Given the description of an element on the screen output the (x, y) to click on. 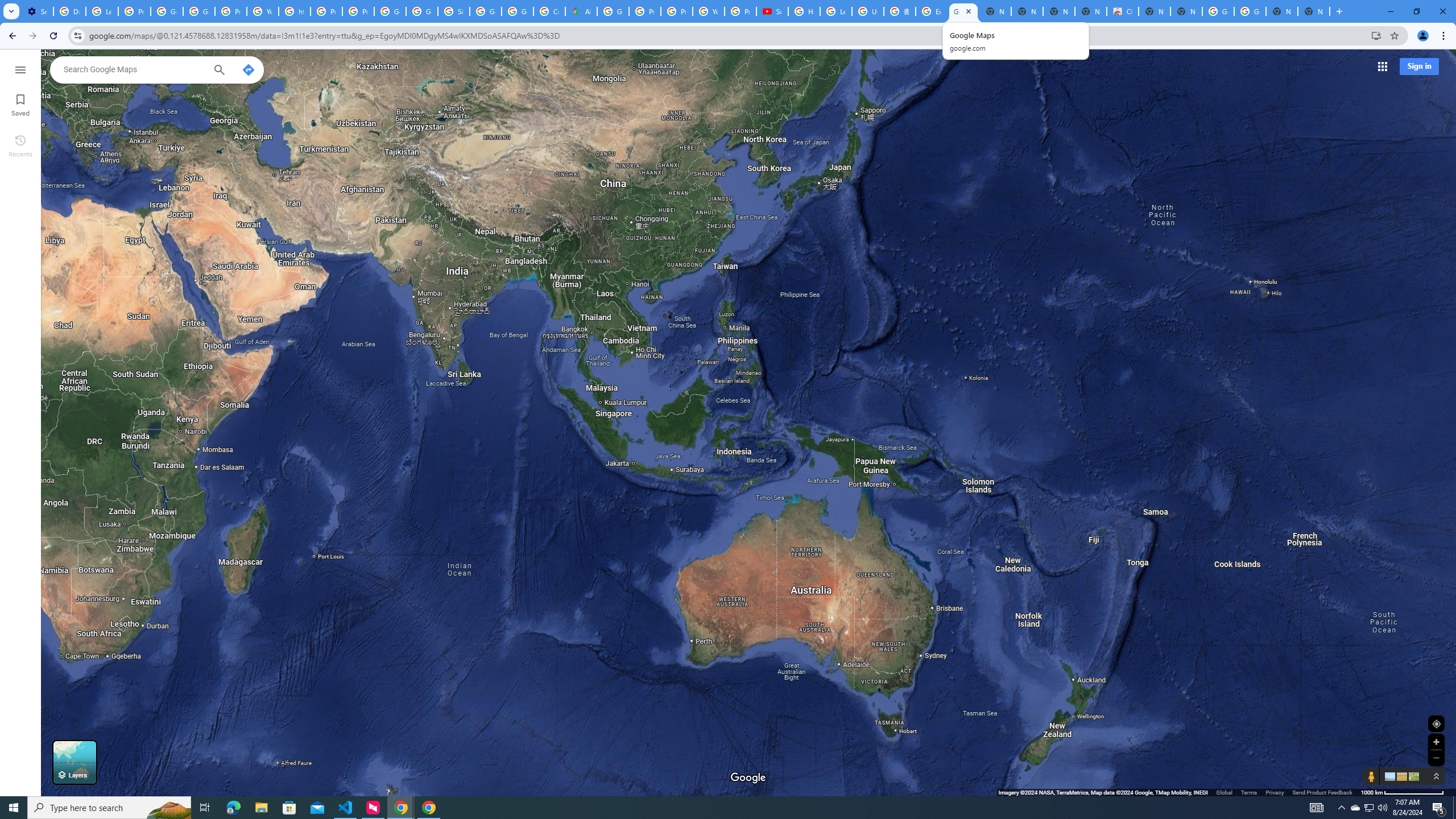
Privacy Help Center - Policies Help (326, 11)
Global (1224, 792)
Zoom in (1436, 741)
Send Product Feedback (1322, 792)
Google Images (1217, 11)
Settings - Performance (37, 11)
Zoom out (1436, 757)
Privacy Help Center - Policies Help (676, 11)
